Given the description of an element on the screen output the (x, y) to click on. 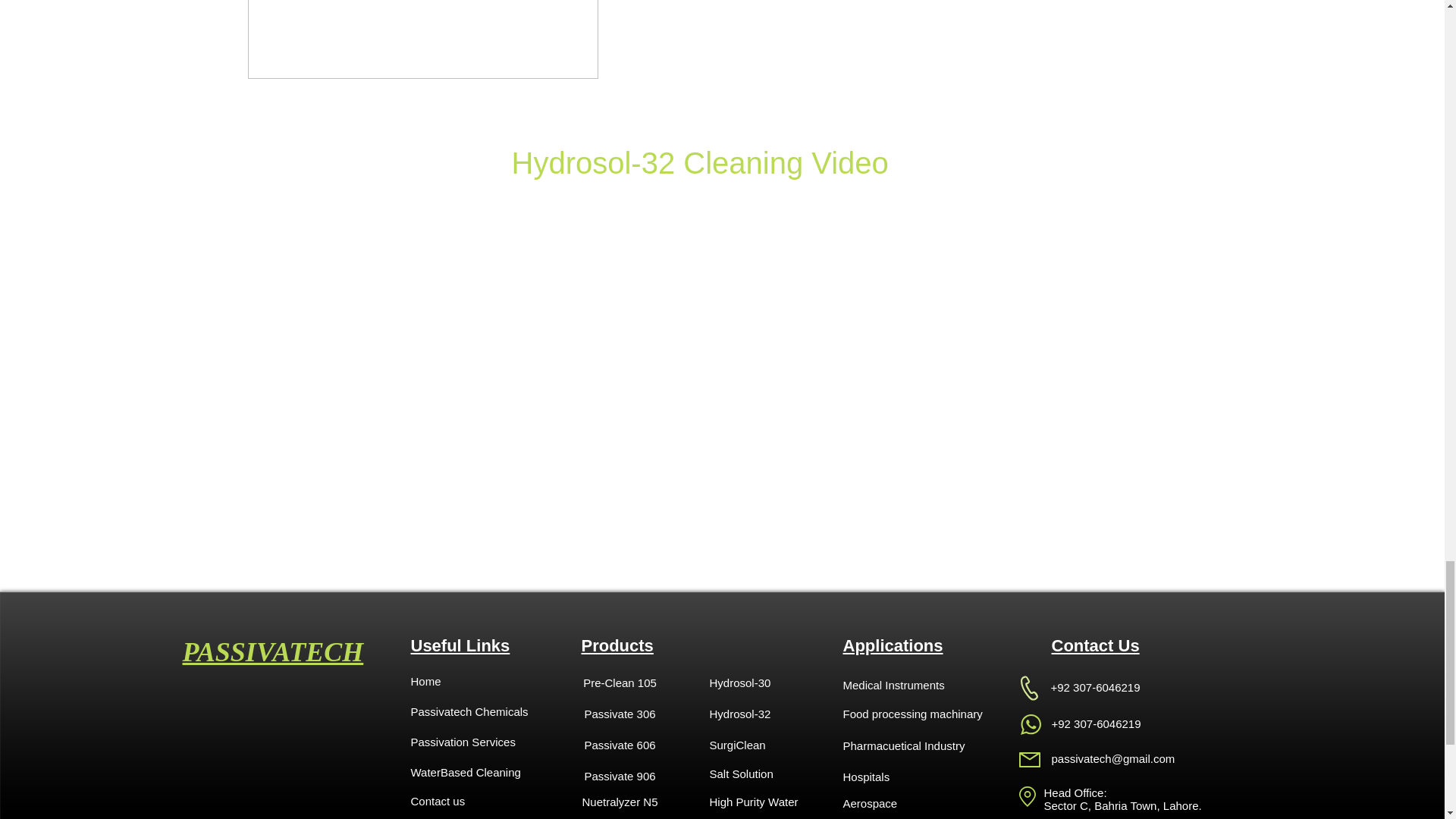
SurgiClean (763, 744)
Passivation Services (516, 741)
Home (464, 680)
Nuetralyzer N5 (619, 801)
Medical Instruments (896, 684)
Aerospace (896, 802)
Pharmacuetical Industry (904, 745)
Salt Solution (763, 773)
Hydrosol-32 (763, 713)
Hospitals (896, 776)
